Given the description of an element on the screen output the (x, y) to click on. 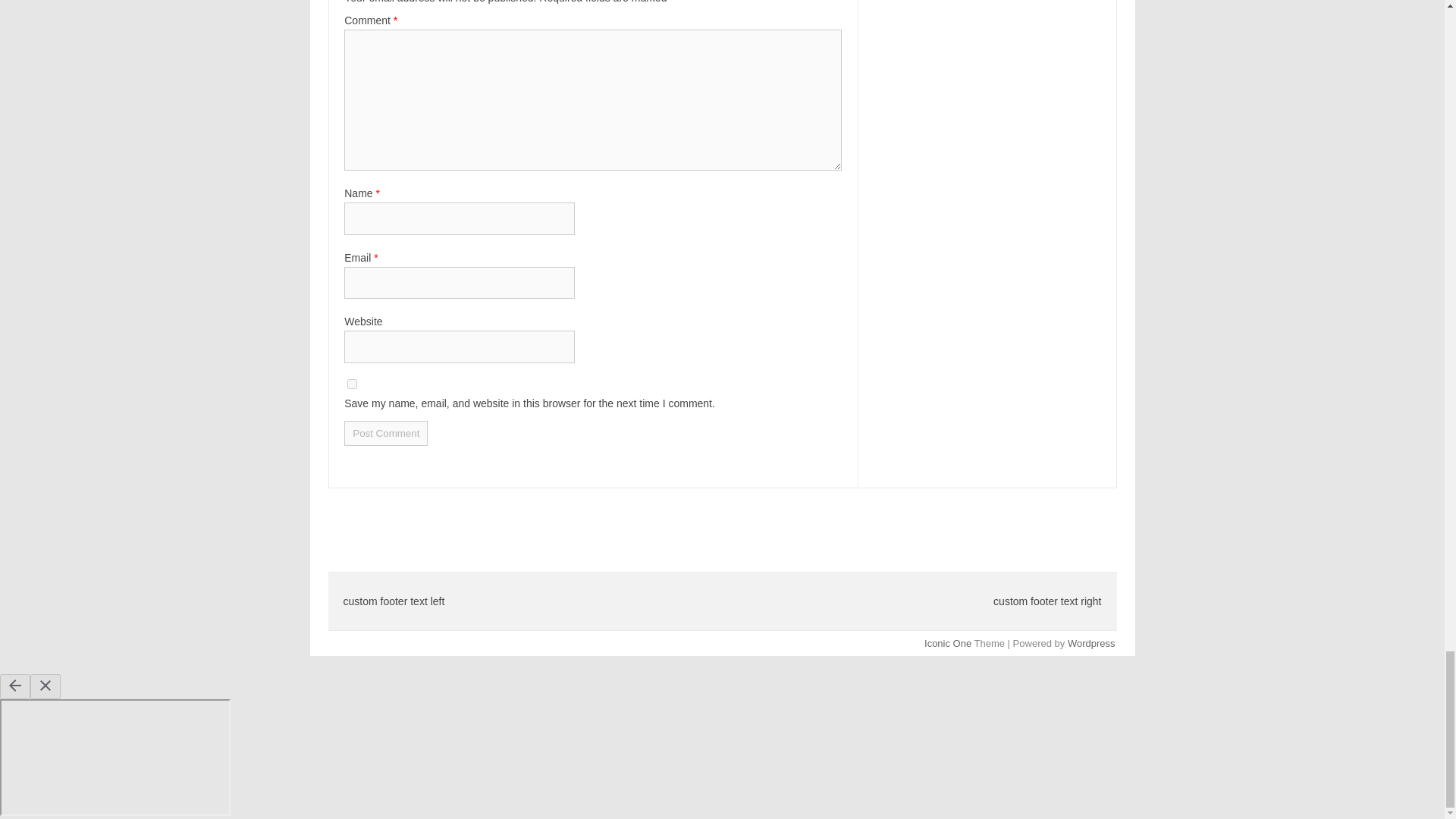
yes (351, 384)
Post Comment (385, 432)
Iconic One (947, 643)
Wordpress (1091, 643)
Post Comment (385, 432)
